Given the description of an element on the screen output the (x, y) to click on. 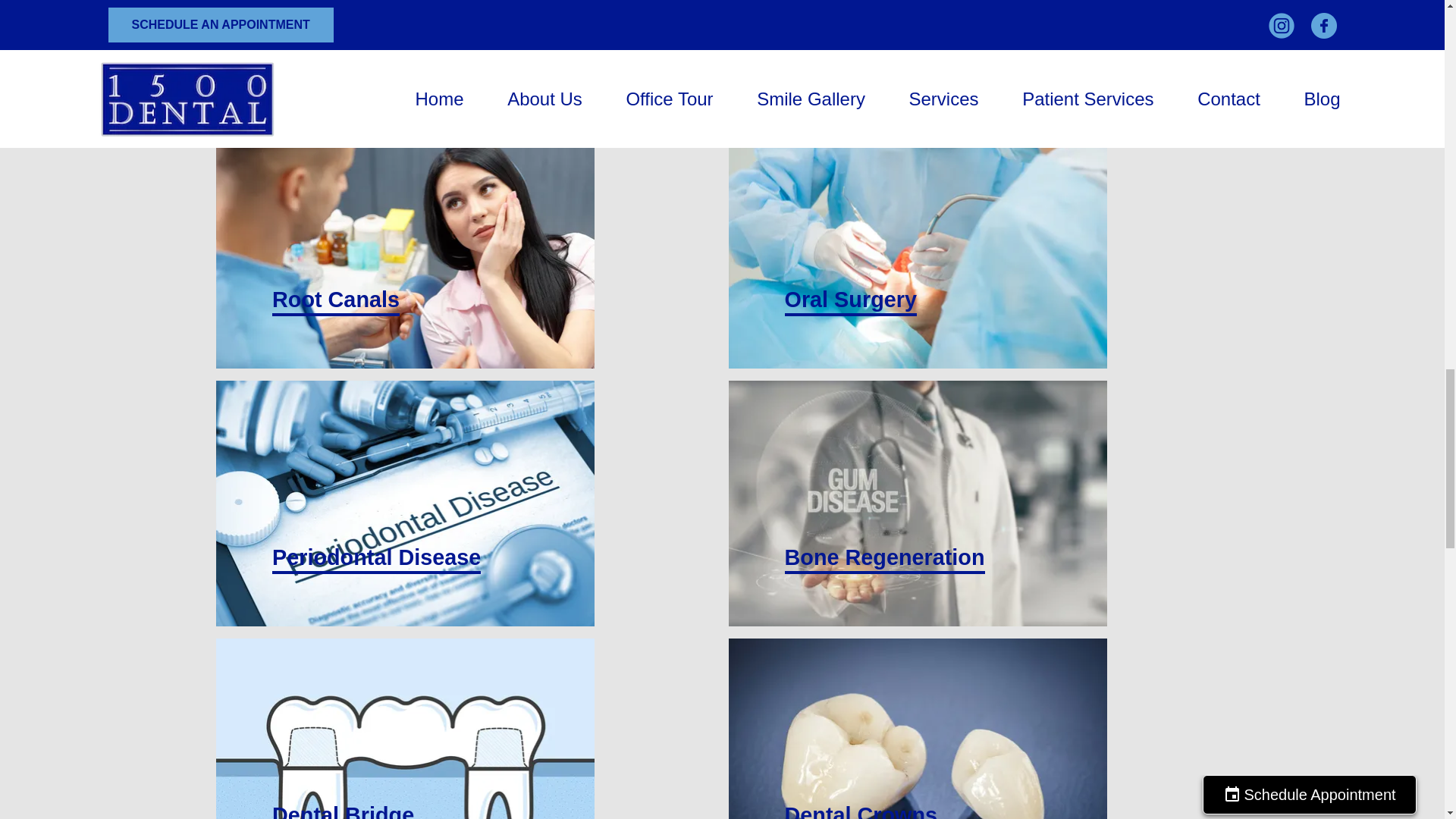
Periodontal Disease (404, 503)
Root Canals (404, 245)
Orthodontal Dentistry (404, 55)
Bone Regeneration (917, 503)
Dental Bridge (404, 728)
Sedation Dentistry (917, 55)
Oral Surgery (917, 245)
